Given the description of an element on the screen output the (x, y) to click on. 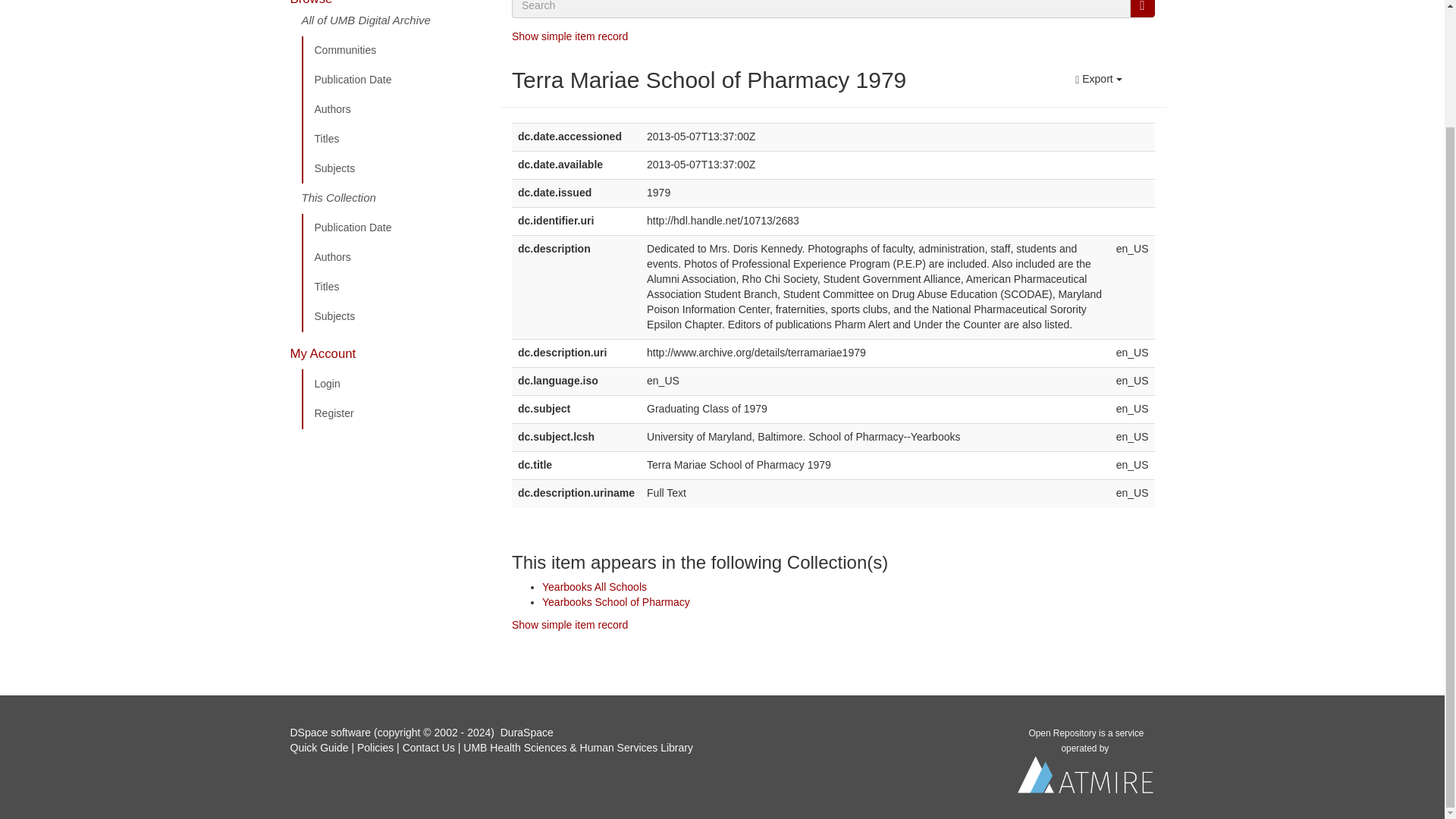
Publication Date (395, 80)
Yearbooks School of Pharmacy (615, 602)
All of UMB Digital Archive (395, 24)
Subjects (395, 317)
Show simple item record (569, 624)
Titles (395, 139)
Register (395, 413)
Login (395, 384)
Publication Date (395, 227)
Export (1098, 79)
